Given the description of an element on the screen output the (x, y) to click on. 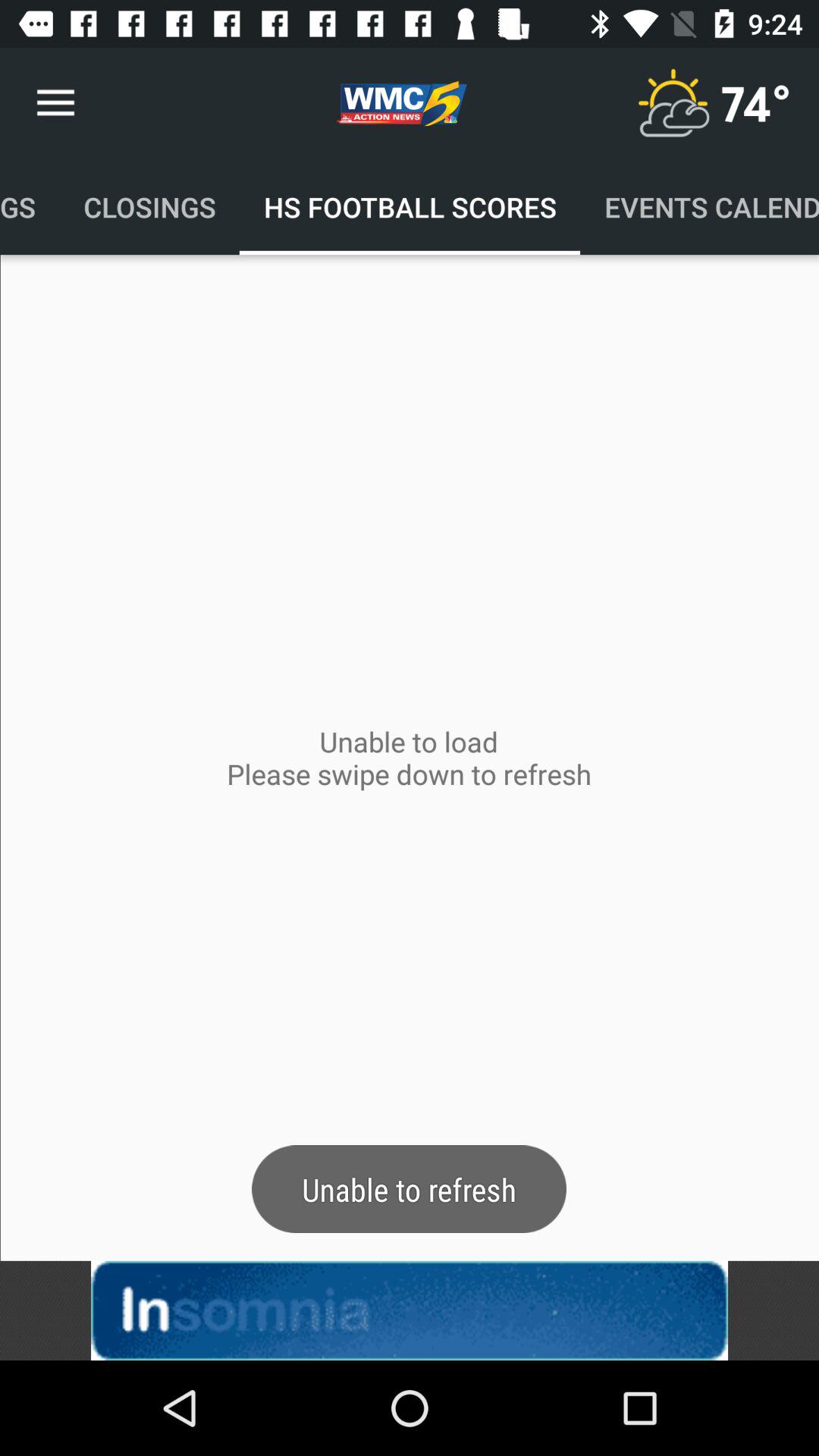
it is an advertisement belongs to insomnia (409, 1310)
